Given the description of an element on the screen output the (x, y) to click on. 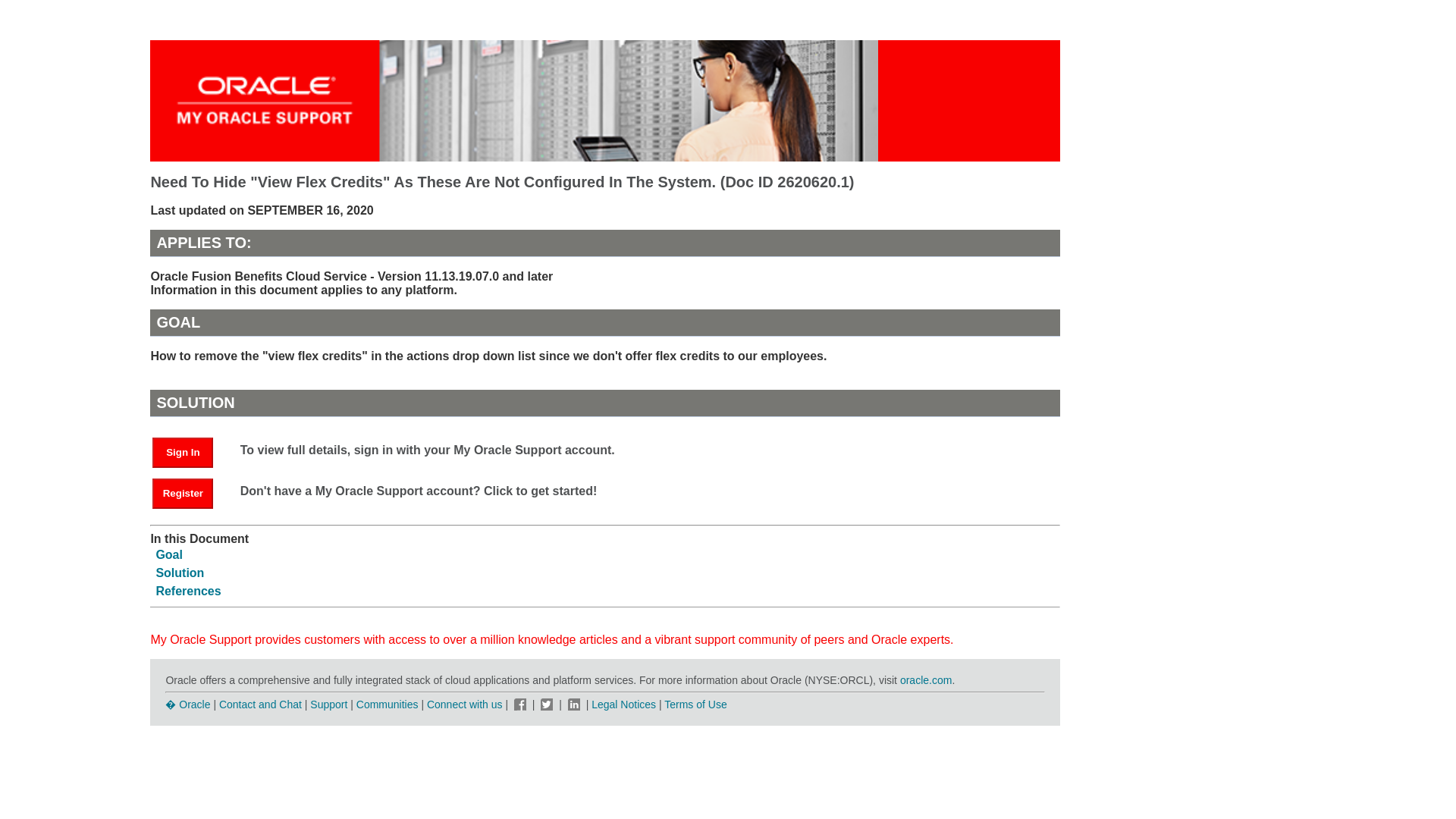
Connect with us (465, 704)
Communities (387, 704)
References (188, 590)
oracle.com (925, 680)
Register (190, 492)
Solution (179, 572)
Support (328, 704)
oracle.com (925, 680)
Sign In (182, 452)
Sign In (190, 451)
